Given the description of an element on the screen output the (x, y) to click on. 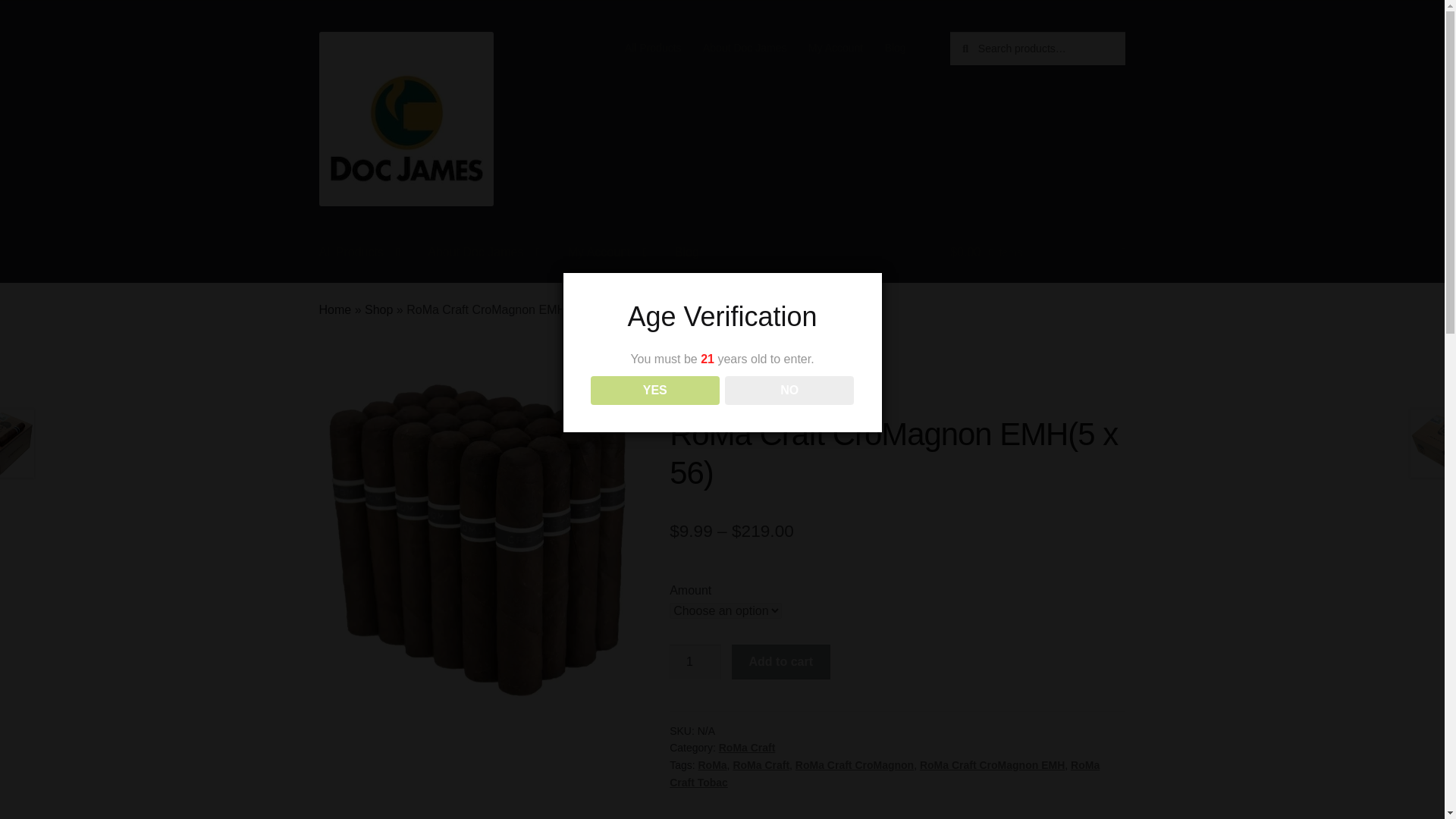
1 (694, 661)
roma cromagnon emh (476, 539)
My Account (835, 47)
About Doc James (745, 47)
Blog (895, 47)
All Products (652, 47)
View your shopping cart (1037, 252)
